Given the description of an element on the screen output the (x, y) to click on. 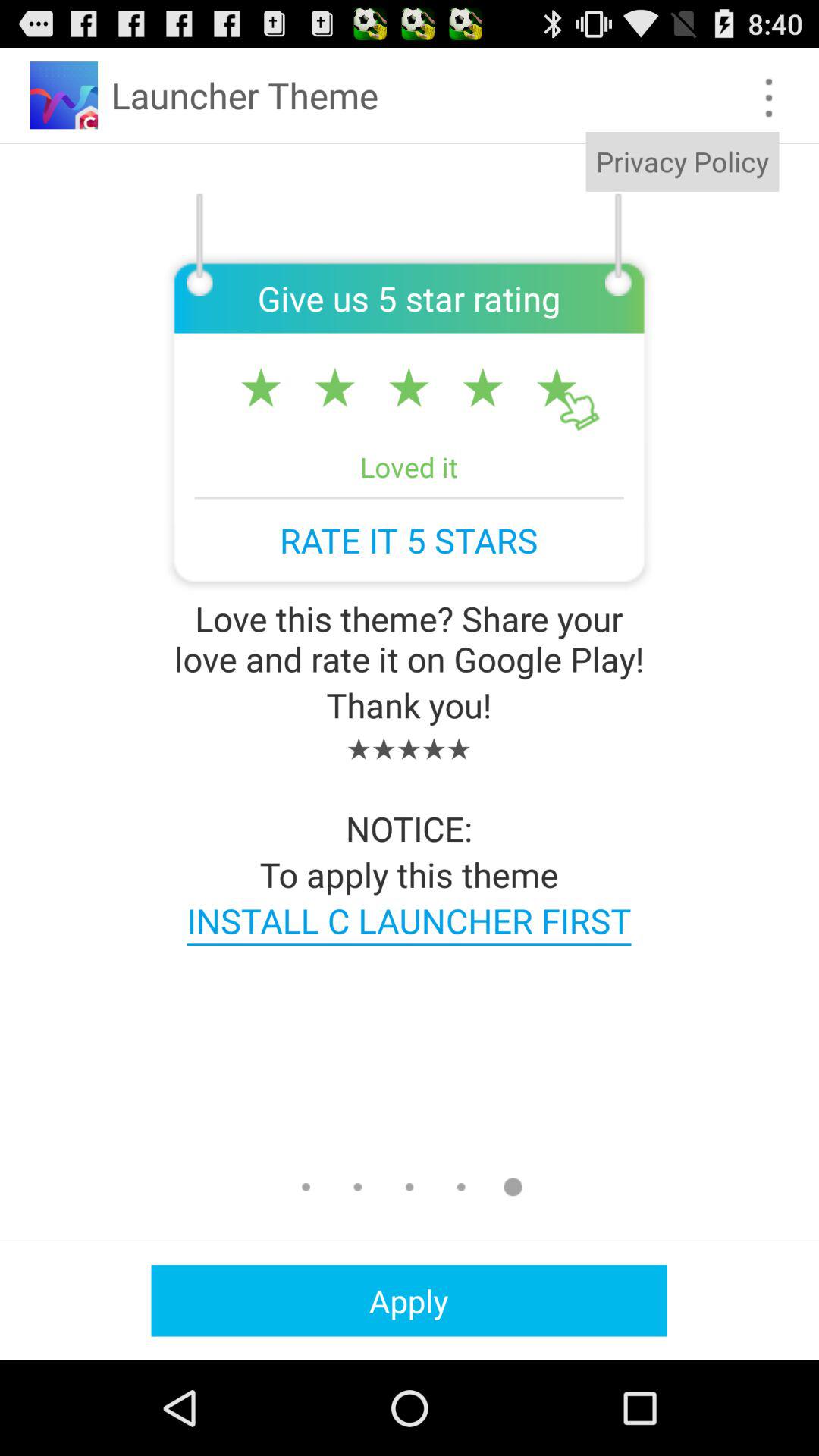
more options (768, 97)
